Given the description of an element on the screen output the (x, y) to click on. 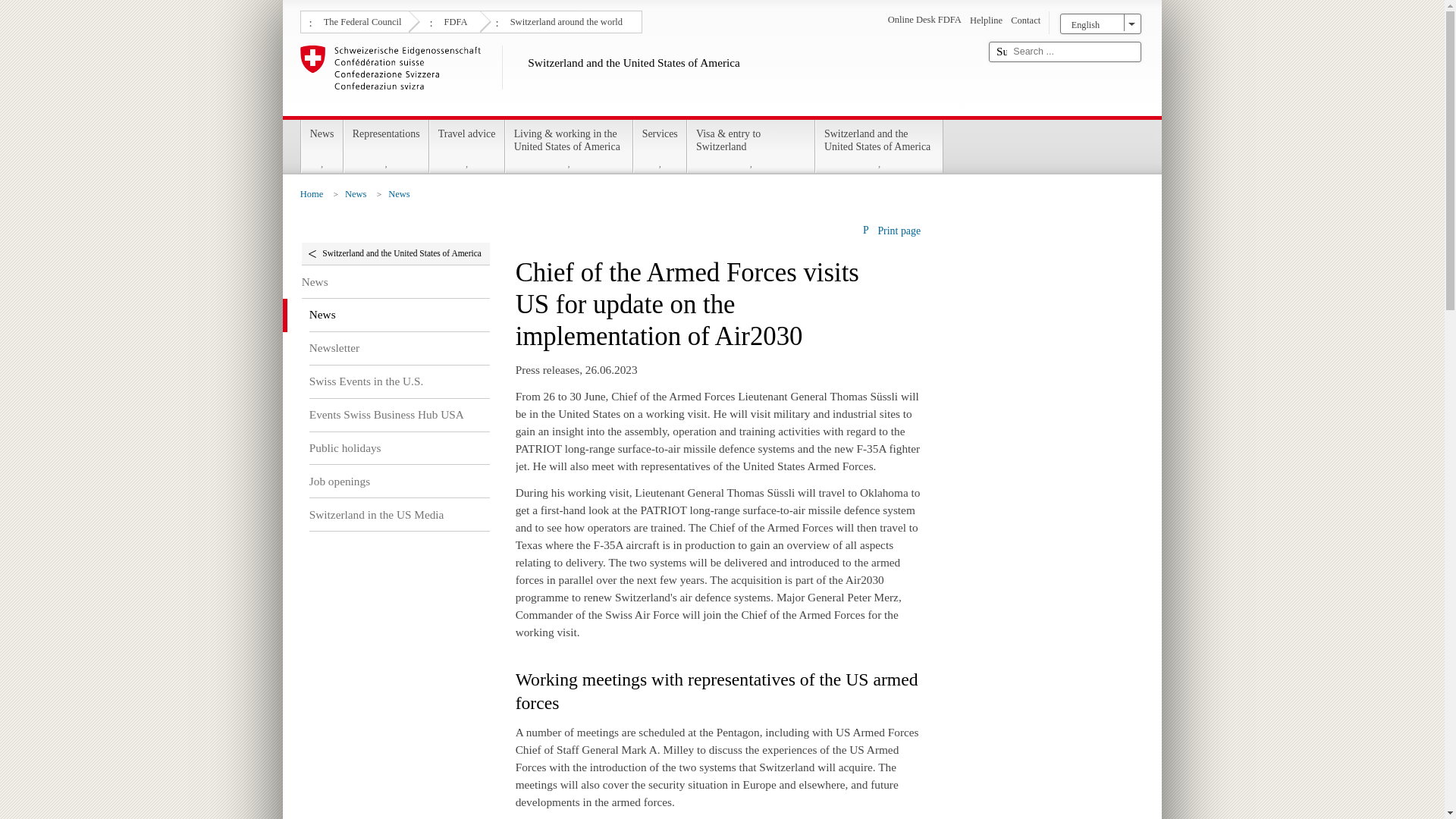
Switzerland and the United States of America (637, 76)
FDFA (454, 20)
The Federal Council (360, 20)
Switzerland around the world (564, 20)
